Given the description of an element on the screen output the (x, y) to click on. 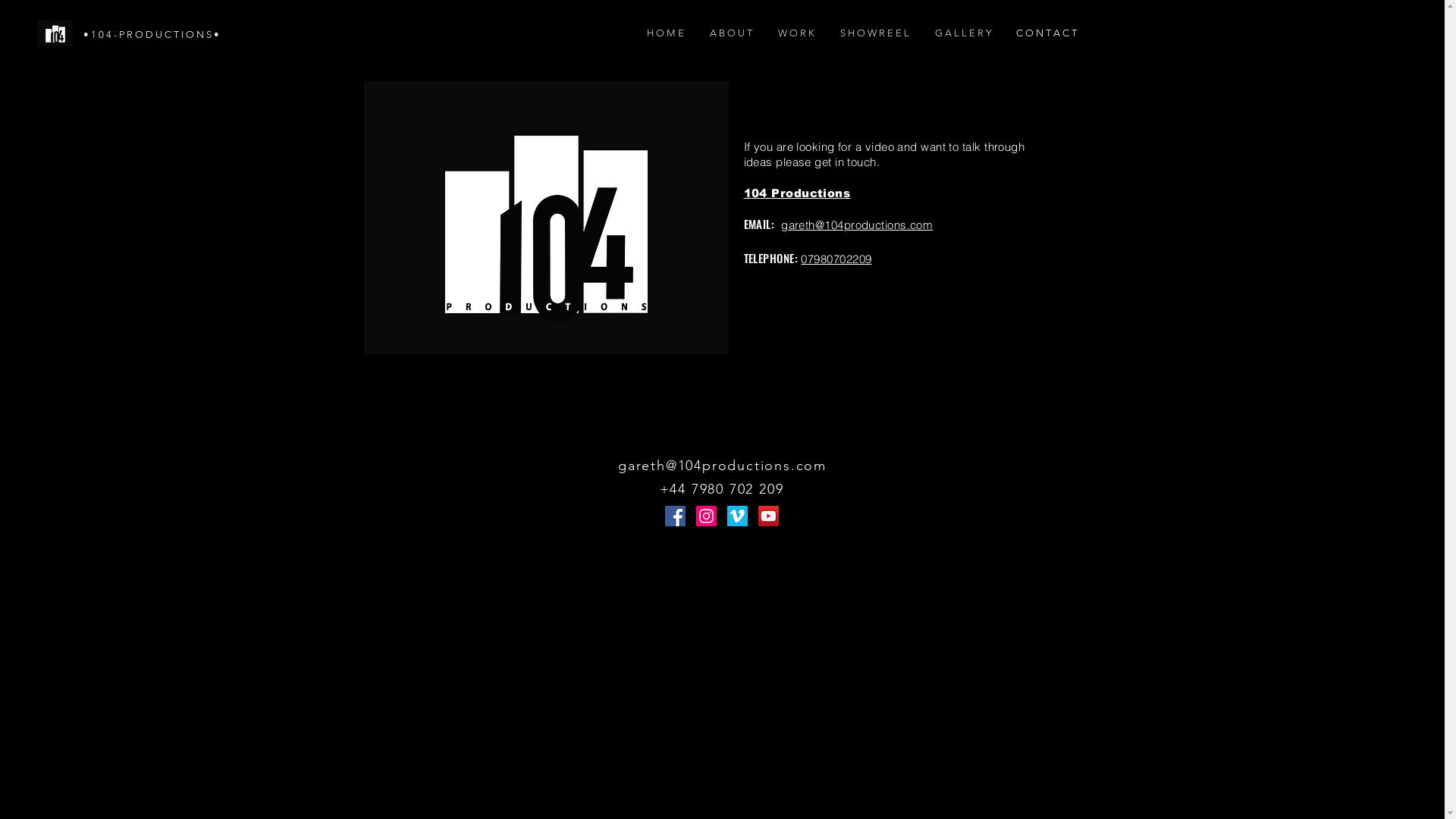
W O R K Element type: text (795, 33)
H O M E Element type: text (664, 33)
S H O W R E E L Element type: text (873, 33)
gareth@104productions.com Element type: text (856, 225)
07980702209 Element type: text (835, 259)
C O N T A C T Element type: text (1046, 33)
A B O U T Element type: text (730, 33)
gareth@104productions.com Element type: text (722, 465)
G A L L E R Y Element type: text (963, 33)
